Given the description of an element on the screen output the (x, y) to click on. 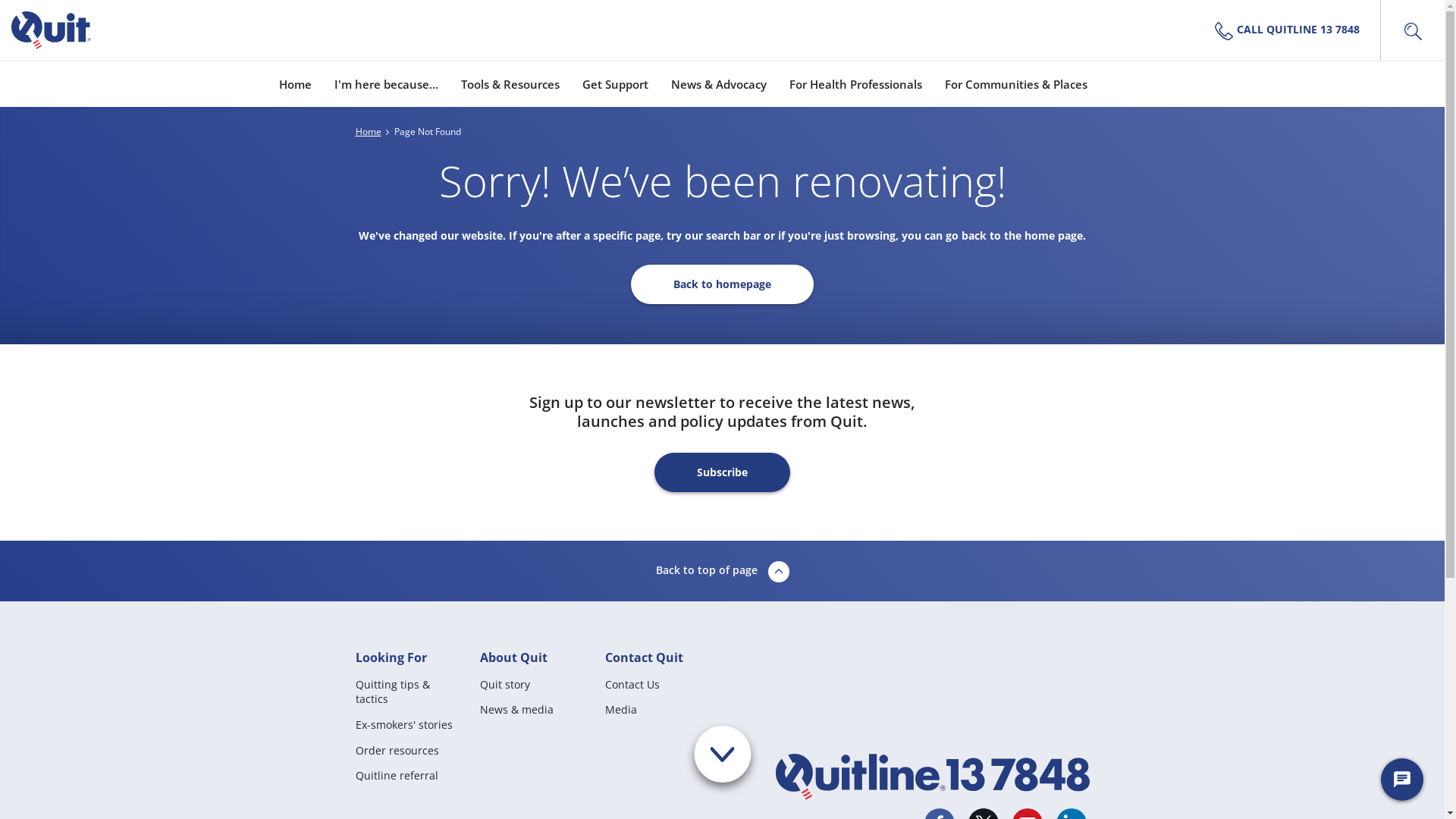
CALL QUITLINE 13 7848 Element type: text (1292, 30)
Tools & Resources Element type: text (510, 83)
For Communities & Places Element type: text (1015, 83)
News & Advocacy Element type: text (717, 83)
Home Element type: text (367, 131)
Quit story Element type: text (505, 684)
Subscribe Element type: text (722, 472)
Back to top of page Element type: text (722, 570)
Home Element type: text (295, 83)
Quitline referral Element type: text (395, 775)
News & media Element type: text (516, 709)
Contact Us Element type: text (632, 684)
Genesys Messenger Launcher Element type: hover (1401, 782)
For Health Professionals Element type: text (854, 83)
Quitting tips & tactics Element type: text (409, 698)
Ex-smokers' stories Element type: text (402, 724)
Back to homepage Element type: text (721, 284)
I'm here because... Element type: text (385, 83)
Get Support Element type: text (615, 83)
Order resources Element type: text (396, 750)
Media Element type: text (621, 709)
